Given the description of an element on the screen output the (x, y) to click on. 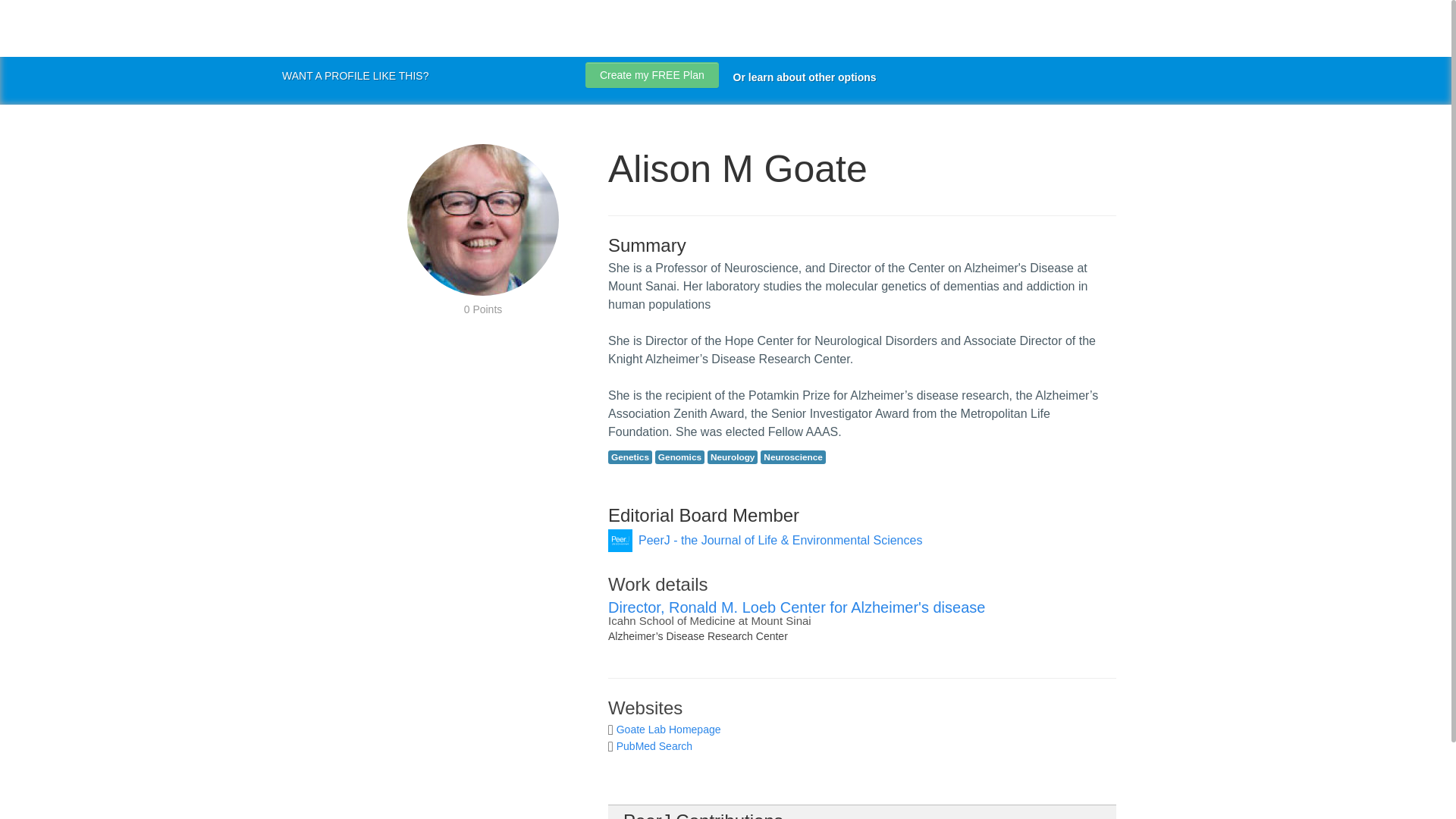
Genetics (630, 457)
Goate Lab Homepage (667, 729)
Goate Lab Homepage (667, 729)
Director, Ronald M. Loeb Center for Alzheimer's disease (796, 606)
Genomics (679, 457)
Neurology (732, 457)
PubMed Search (654, 746)
Or learn about other options (804, 77)
Neuroscience (792, 457)
PubMed Search (654, 746)
